Given the description of an element on the screen output the (x, y) to click on. 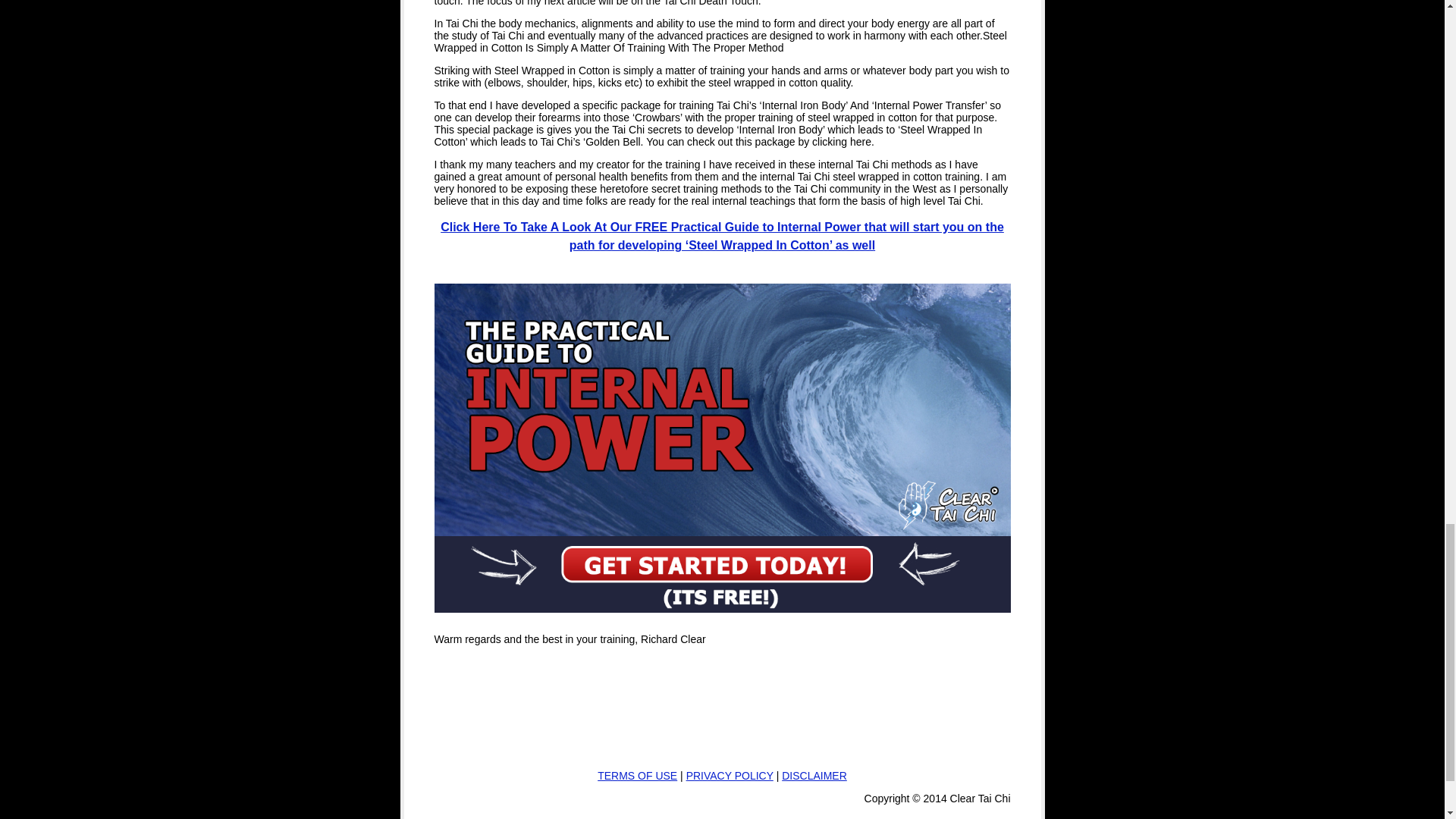
DISCLAIMER (814, 775)
TERMS OF USE (636, 775)
PRIVACY POLICY (729, 775)
